Given the description of an element on the screen output the (x, y) to click on. 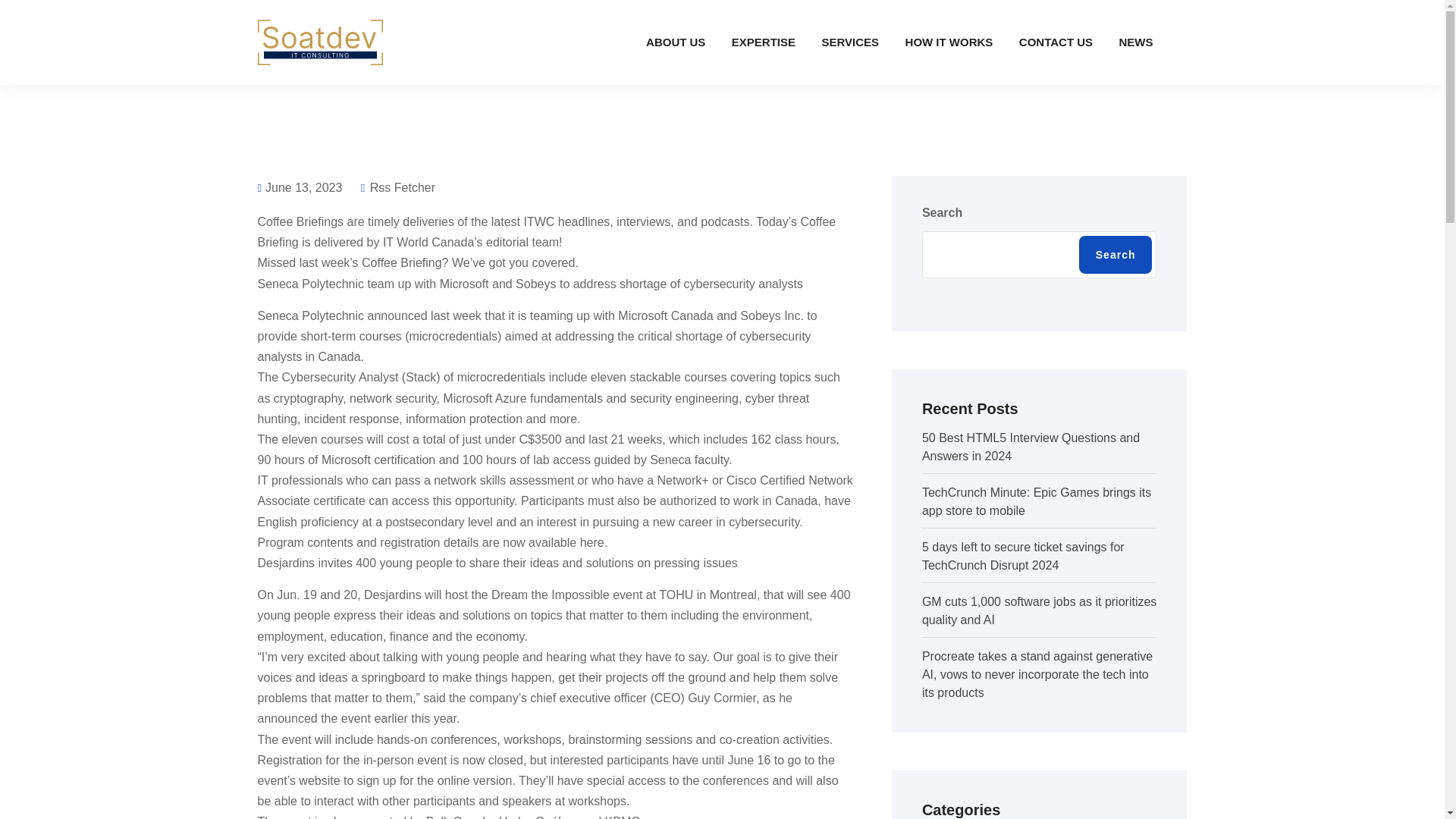
HOW IT WORKS (948, 41)
TechCrunch Minute: Epic Games brings its app store to mobile (1036, 501)
ABOUT US (675, 41)
Services (849, 41)
Expertise (763, 41)
CONTACT US (1055, 41)
EXPERTISE (763, 41)
GM cuts 1,000 software jobs as it prioritizes quality and AI (1038, 610)
50 Best HTML5 Interview Questions and Answers in 2024 (1030, 446)
How it works (948, 41)
